Given the description of an element on the screen output the (x, y) to click on. 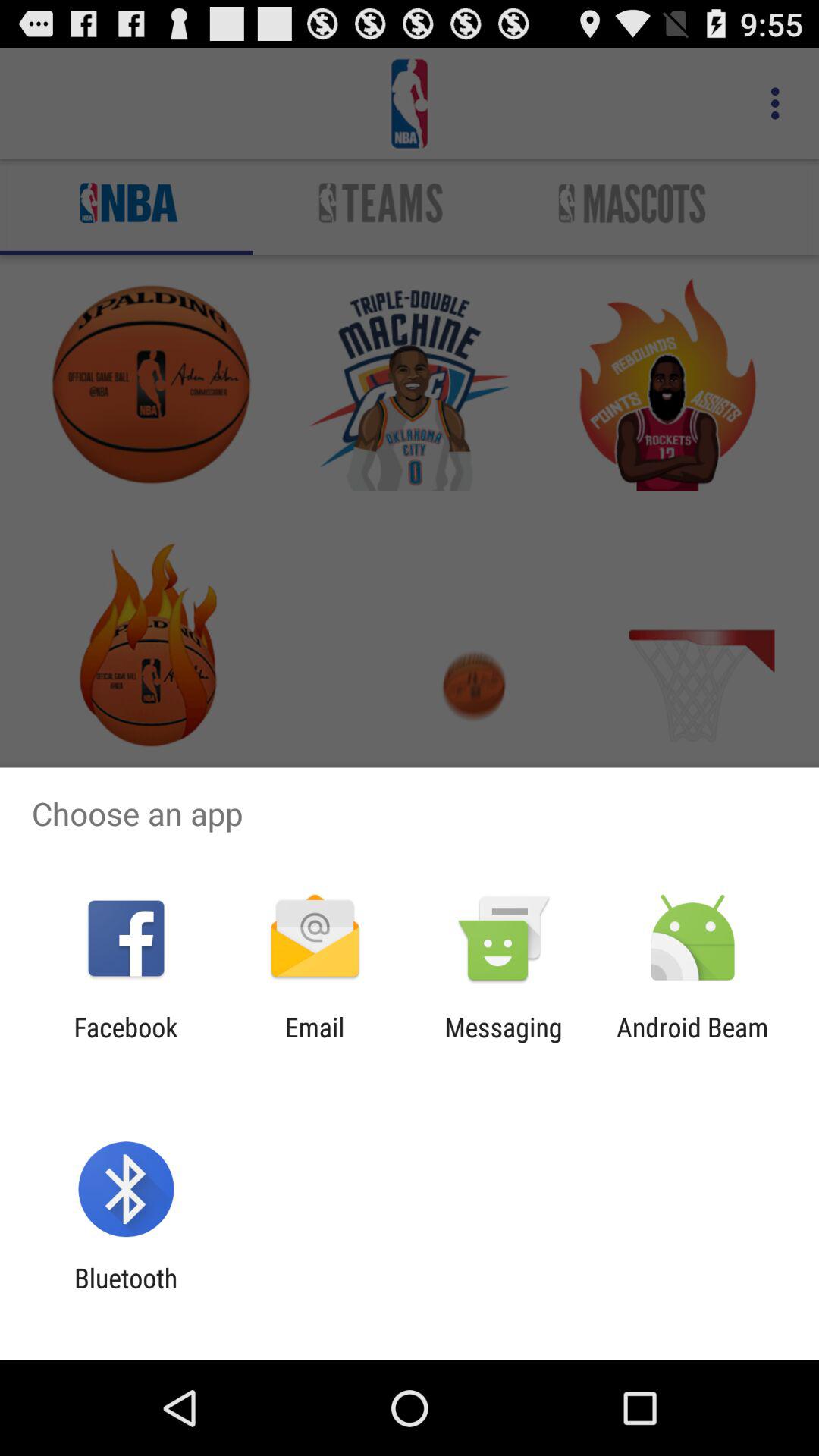
jump until messaging app (503, 1042)
